Given the description of an element on the screen output the (x, y) to click on. 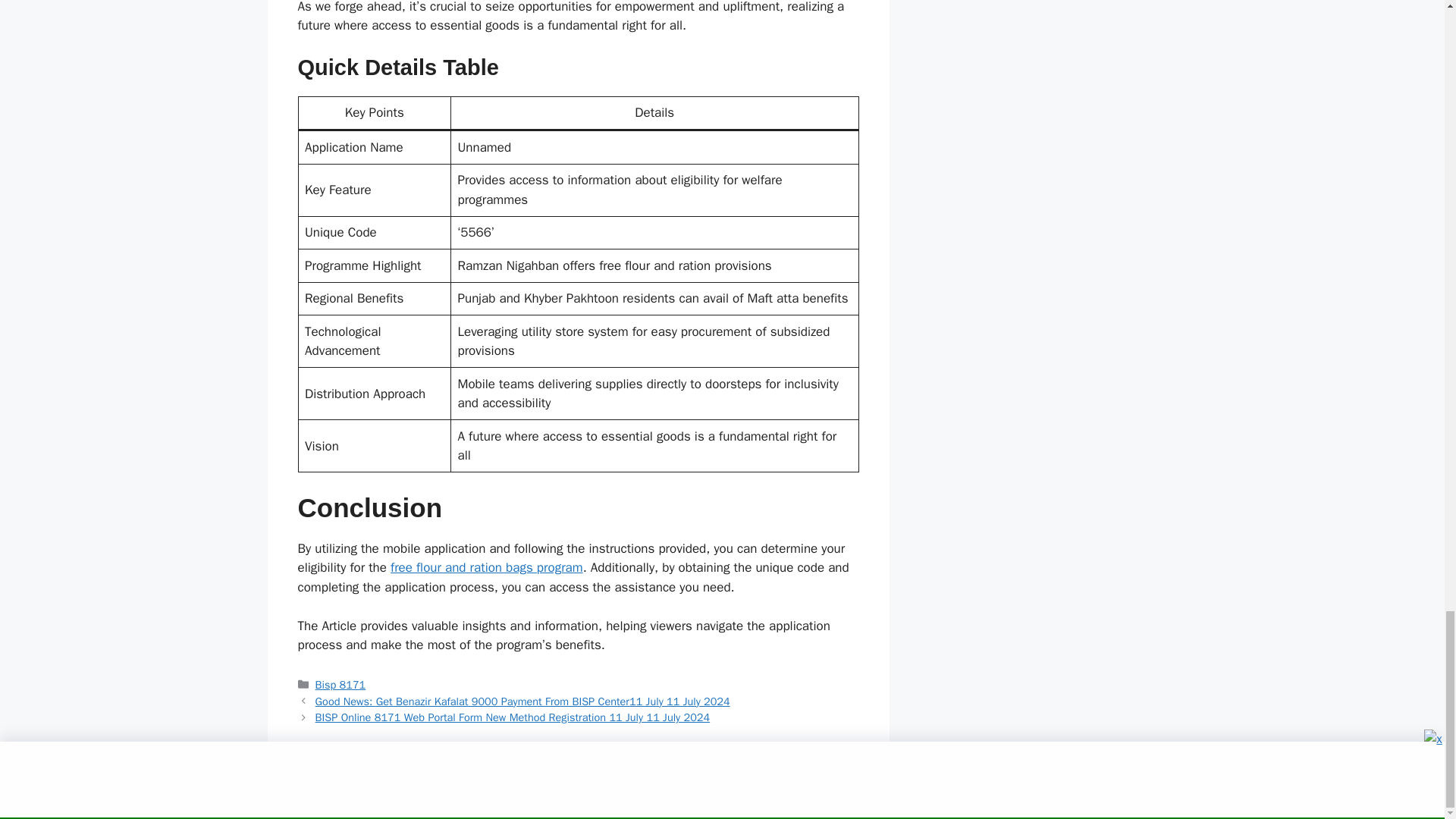
Bisp 8171 (340, 684)
free flour and ration bags program (486, 567)
